Given the description of an element on the screen output the (x, y) to click on. 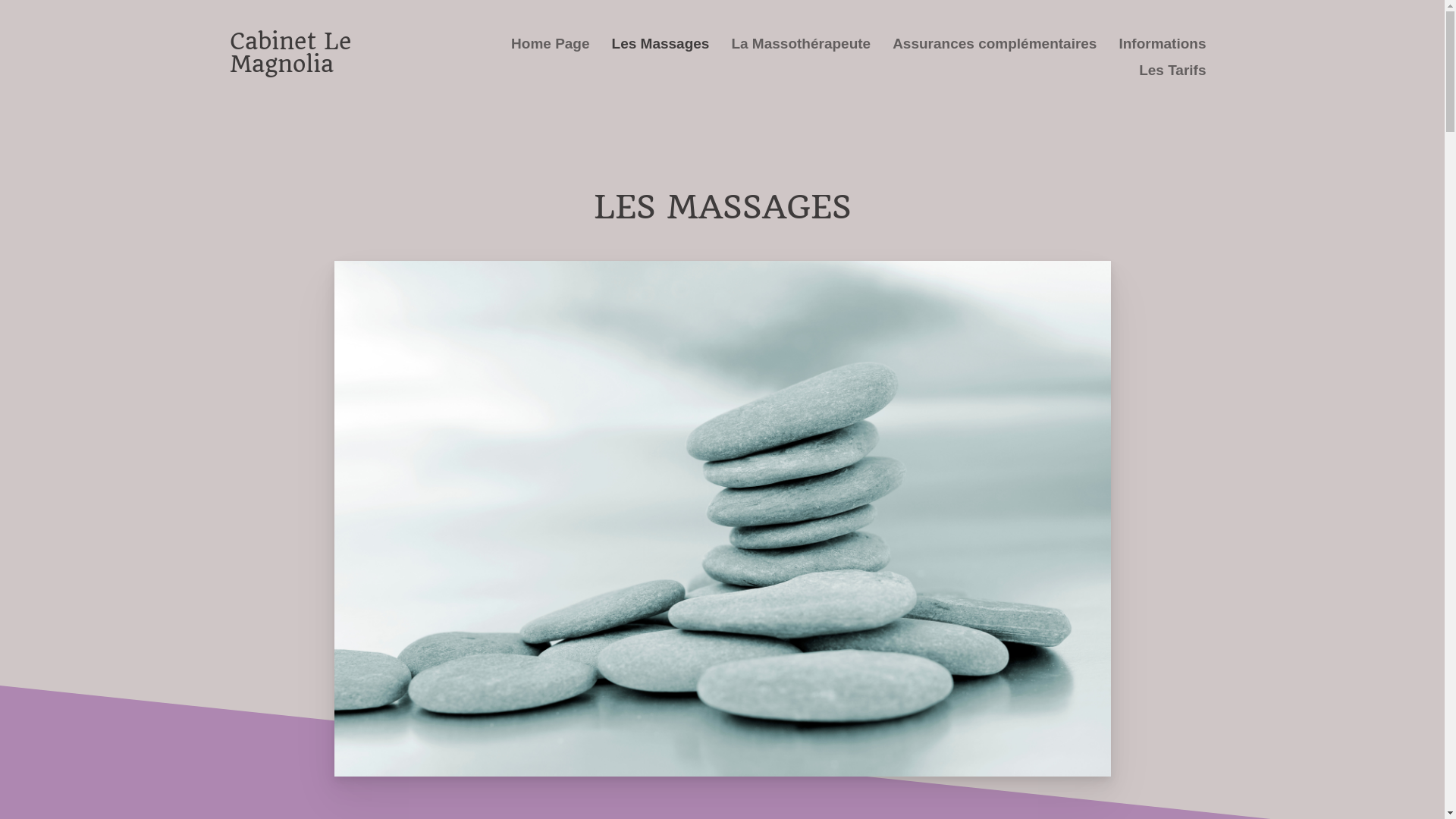
Les Tarifs Element type: text (1171, 69)
Informations Element type: text (1161, 43)
Les Massages Element type: text (660, 43)
Home Page Element type: text (550, 43)
Cabinet Le Magnolia Element type: text (290, 52)
